Given the description of an element on the screen output the (x, y) to click on. 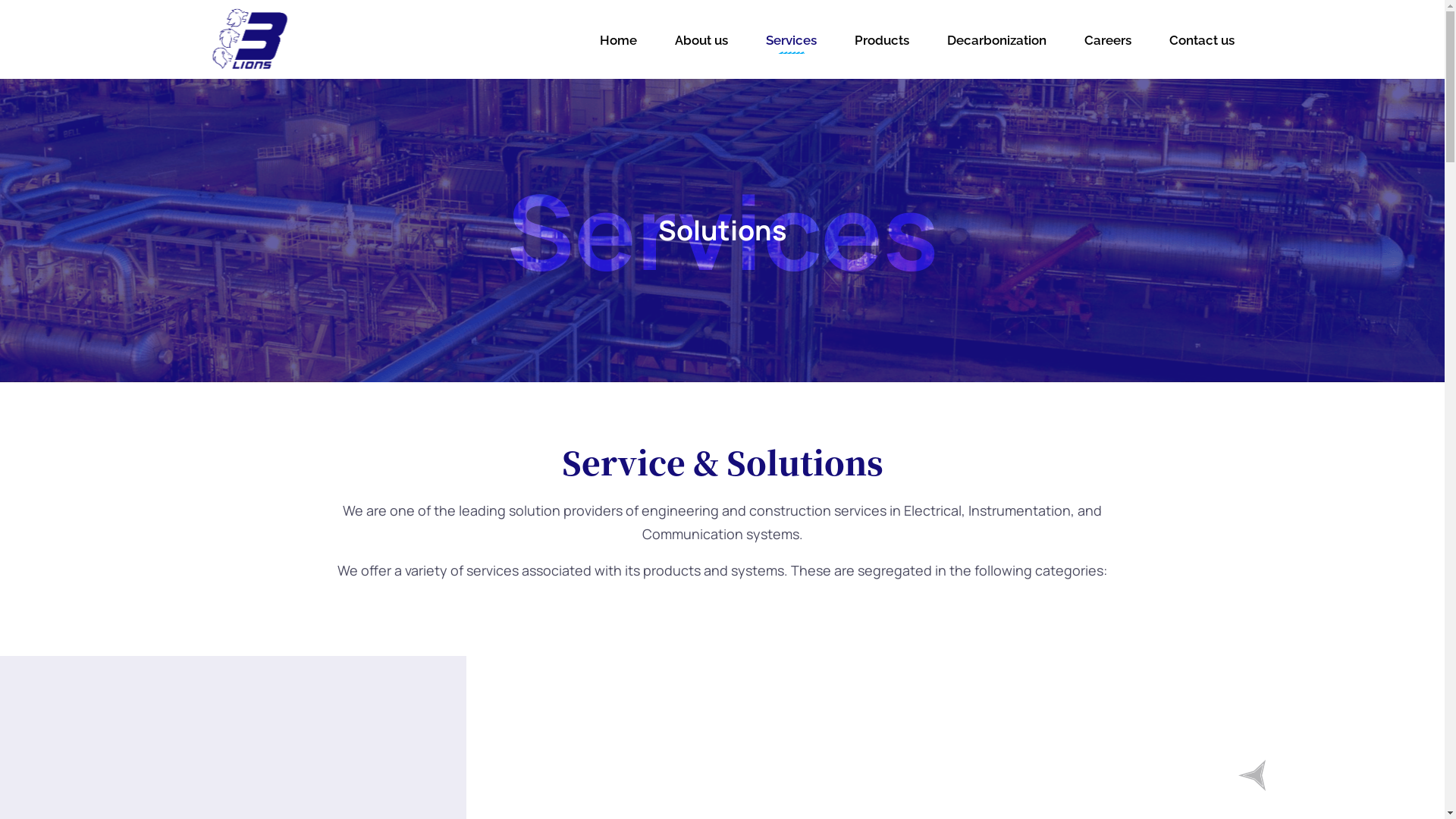
Home Element type: text (618, 39)
Decarbonization Element type: text (996, 39)
Careers Element type: text (1106, 39)
About us Element type: text (700, 39)
Products Element type: text (881, 39)
Contact us Element type: text (1198, 39)
Services Element type: text (790, 39)
